Given the description of an element on the screen output the (x, y) to click on. 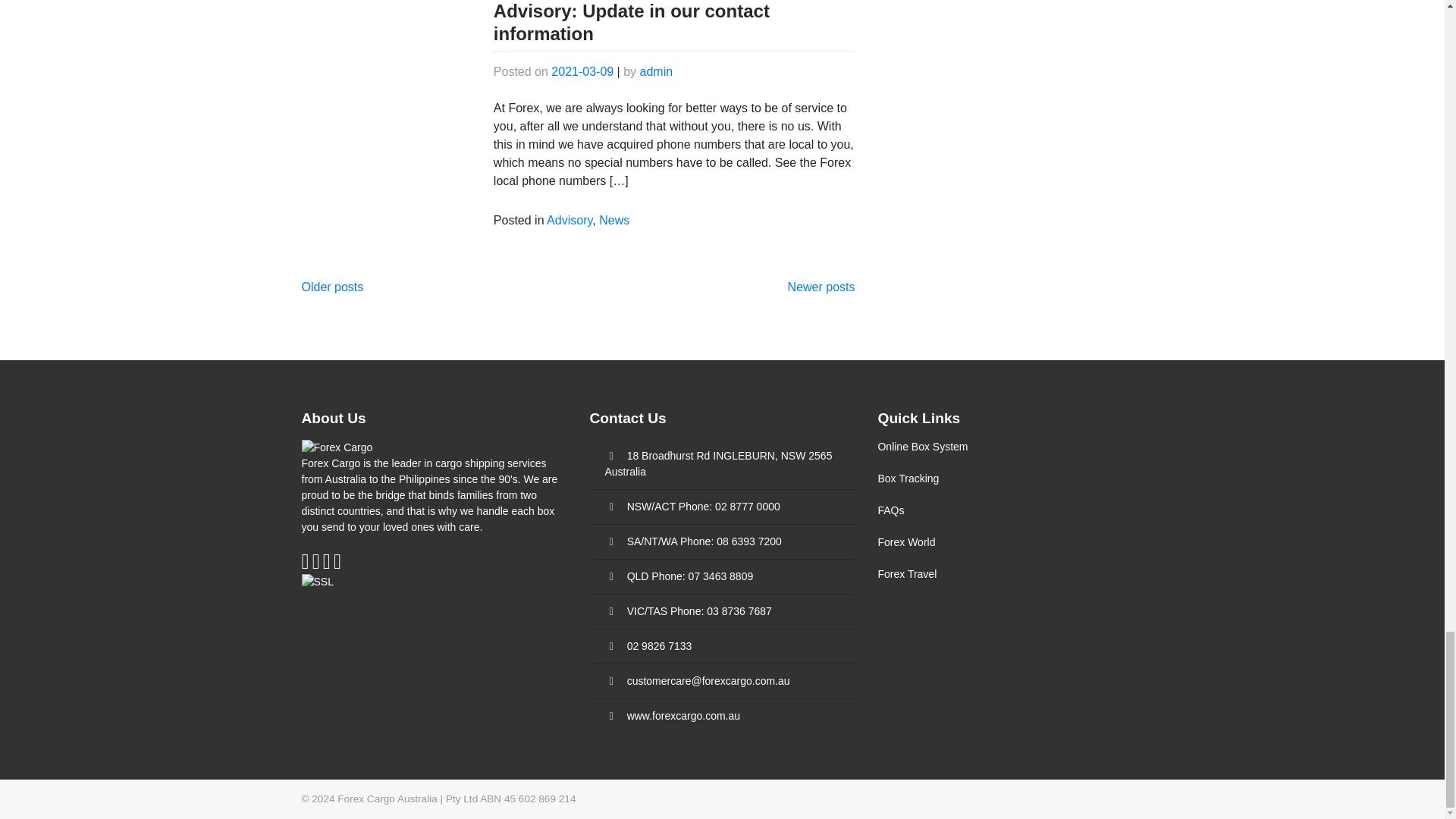
GlobalSign Site Seal (317, 580)
